Given the description of an element on the screen output the (x, y) to click on. 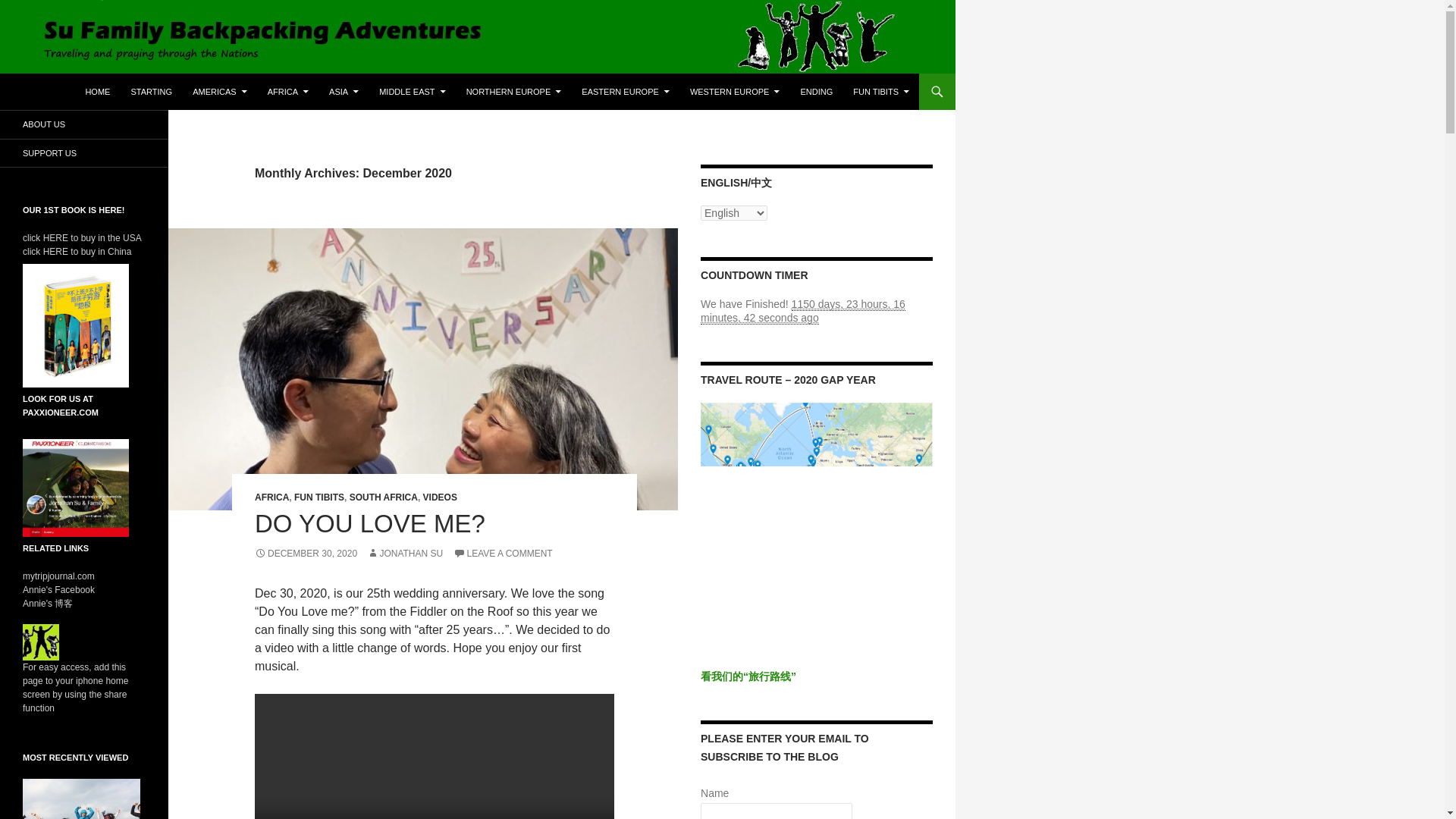
HOME (97, 91)
EASTERN EUROPE (625, 91)
Su Family Backpacking Adventures (138, 91)
AMERICAS (219, 91)
NORTHERN EUROPE (513, 91)
MIDDLE EAST (411, 91)
ASIA (344, 91)
AFRICA (288, 91)
STARTING (150, 91)
